Given the description of an element on the screen output the (x, y) to click on. 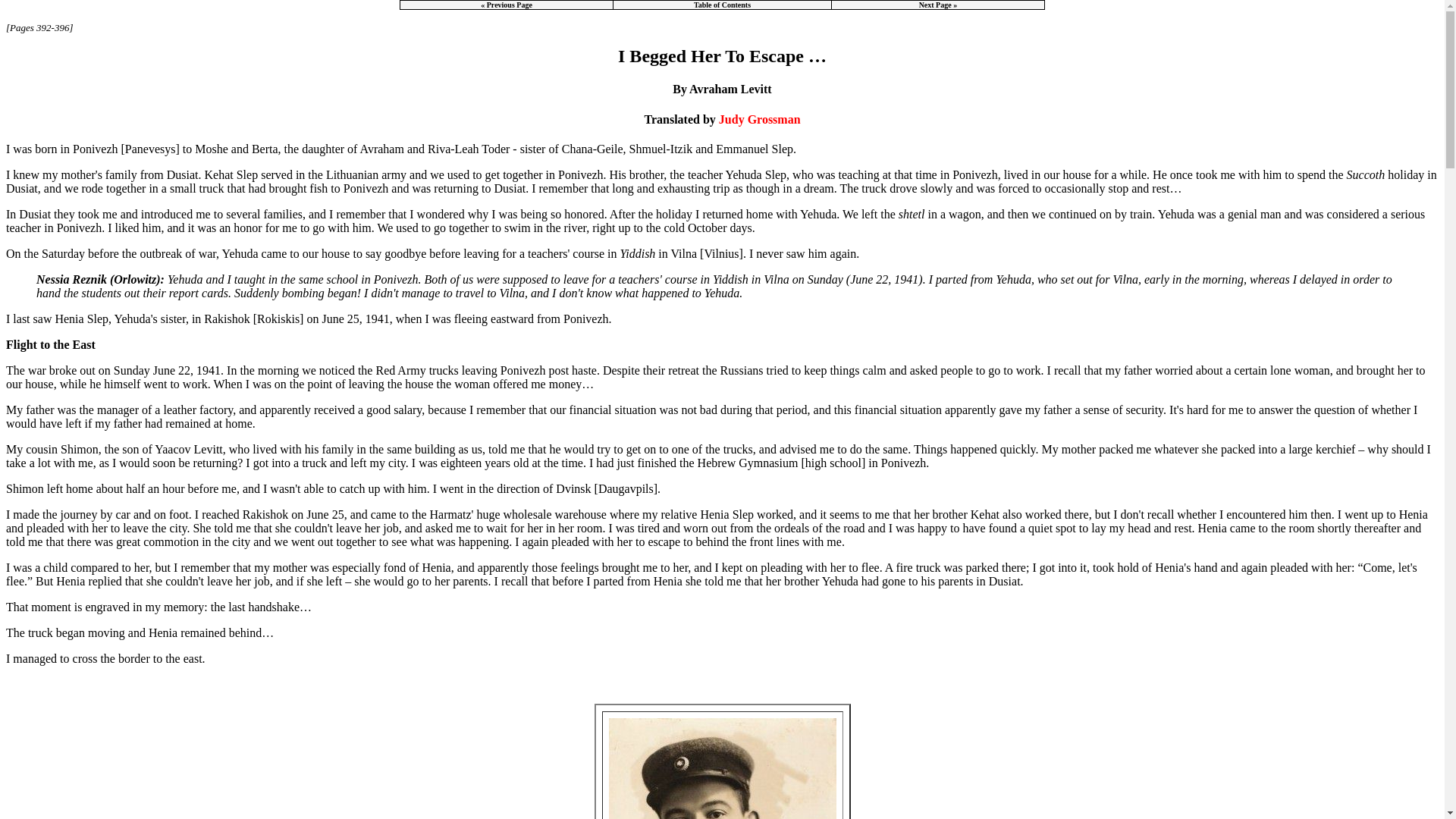
Table of Contents (722, 4)
